Given the description of an element on the screen output the (x, y) to click on. 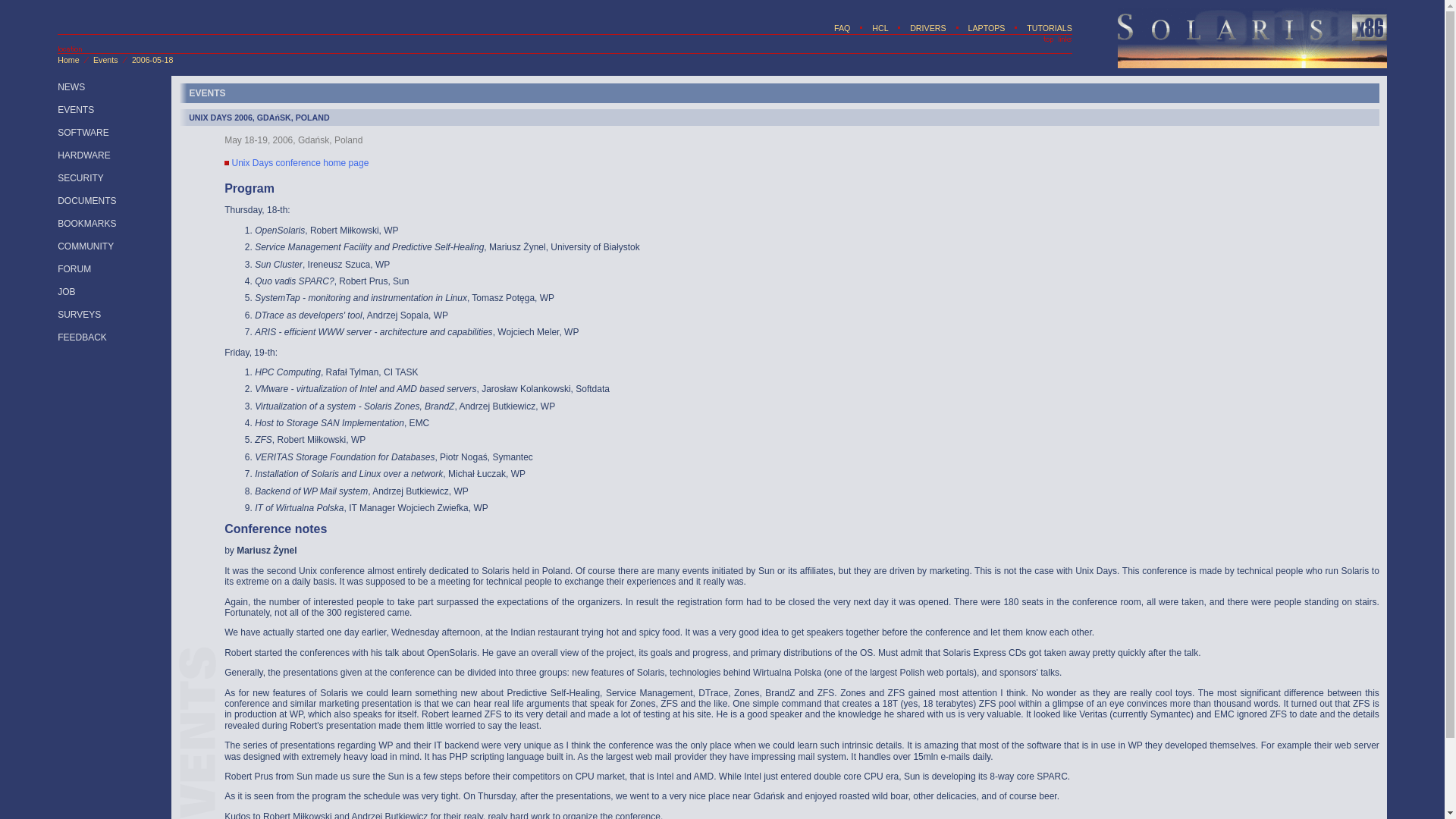
JOB (66, 291)
NEWS (71, 86)
Events (105, 59)
FAQ (842, 27)
COMMUNITY (85, 245)
HARDWARE (84, 154)
SOFTWARE (83, 132)
LAPTOPS (986, 27)
Unix Days conference home page (300, 163)
Home (68, 59)
2006-05-18 (152, 59)
TUTORIALS (1048, 27)
BOOKMARKS (87, 223)
DOCUMENTS (87, 200)
DRIVERS (927, 27)
